Given the description of an element on the screen output the (x, y) to click on. 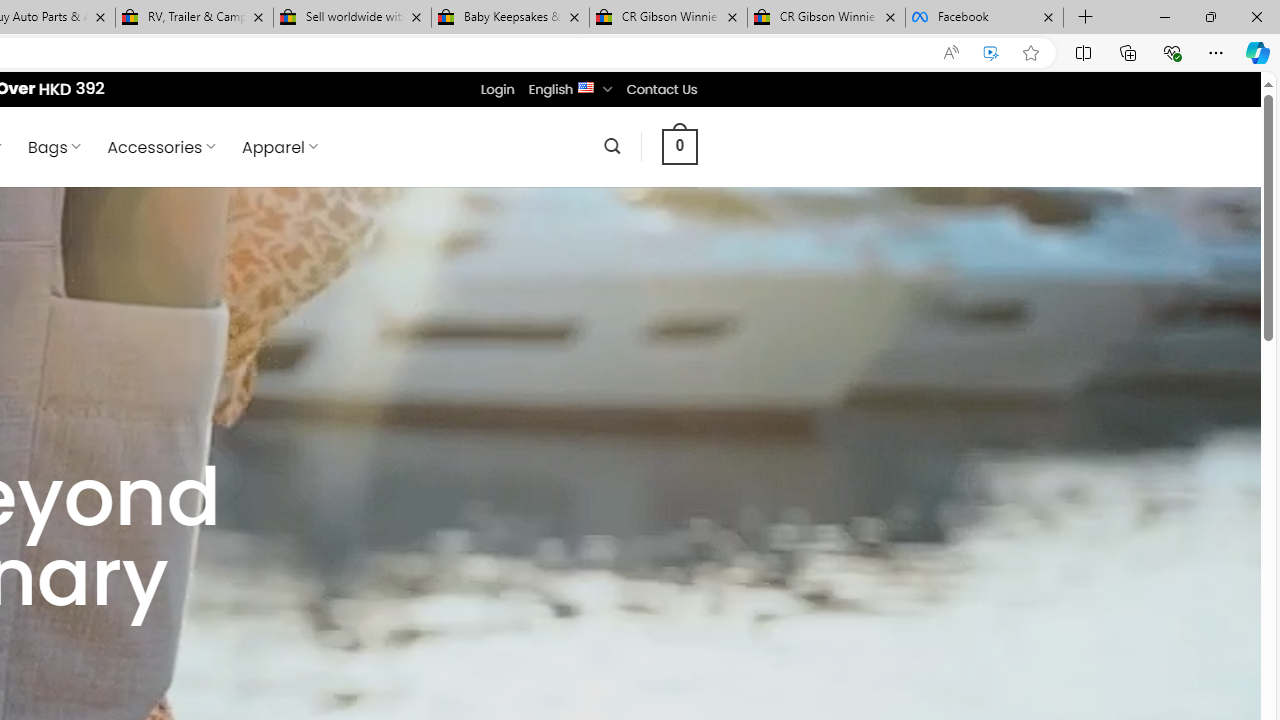
Login (497, 89)
Baby Keepsakes & Announcements for sale | eBay (509, 17)
